Given the description of an element on the screen output the (x, y) to click on. 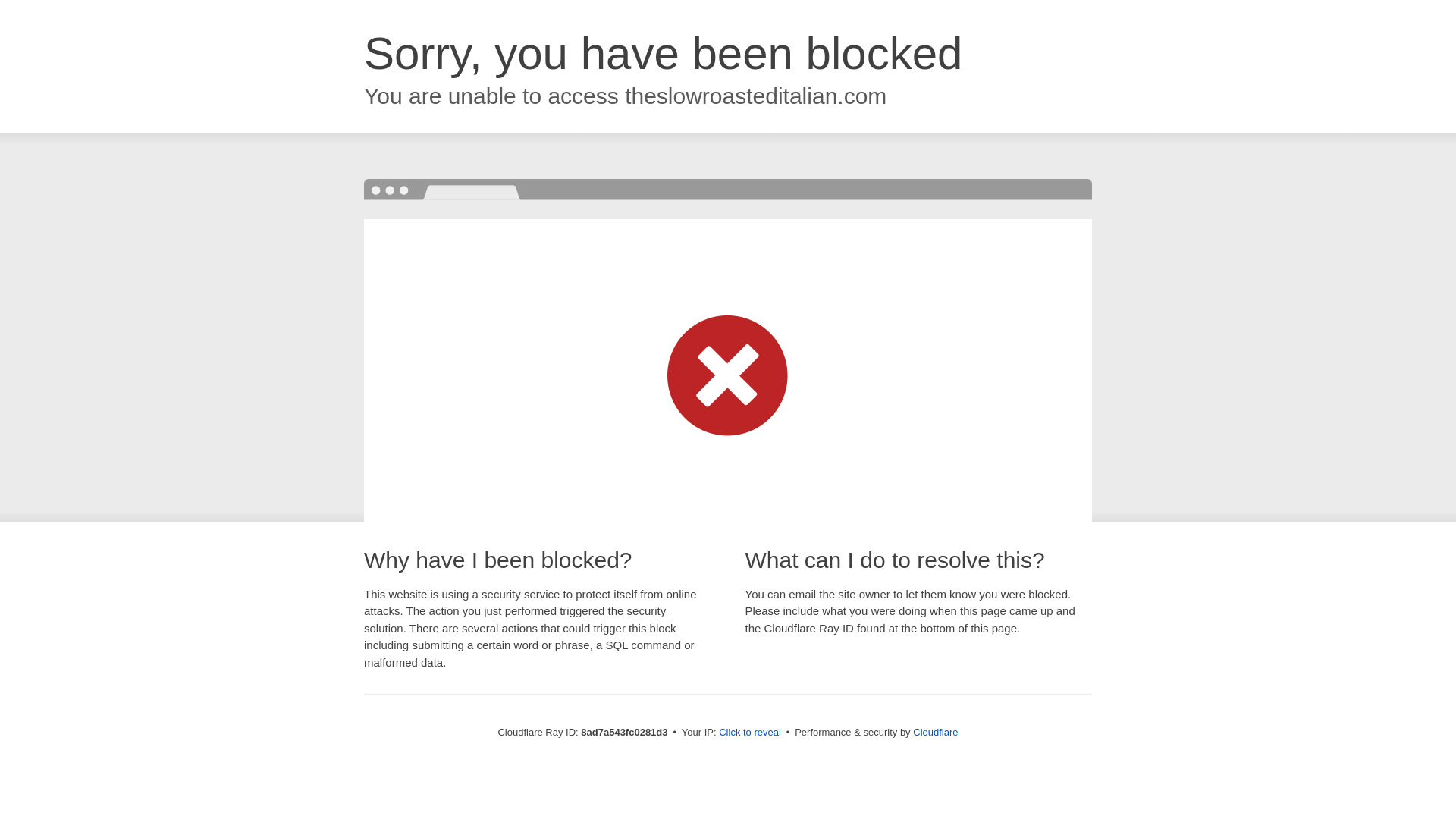
Cloudflare (935, 731)
Click to reveal (749, 732)
